Given the description of an element on the screen output the (x, y) to click on. 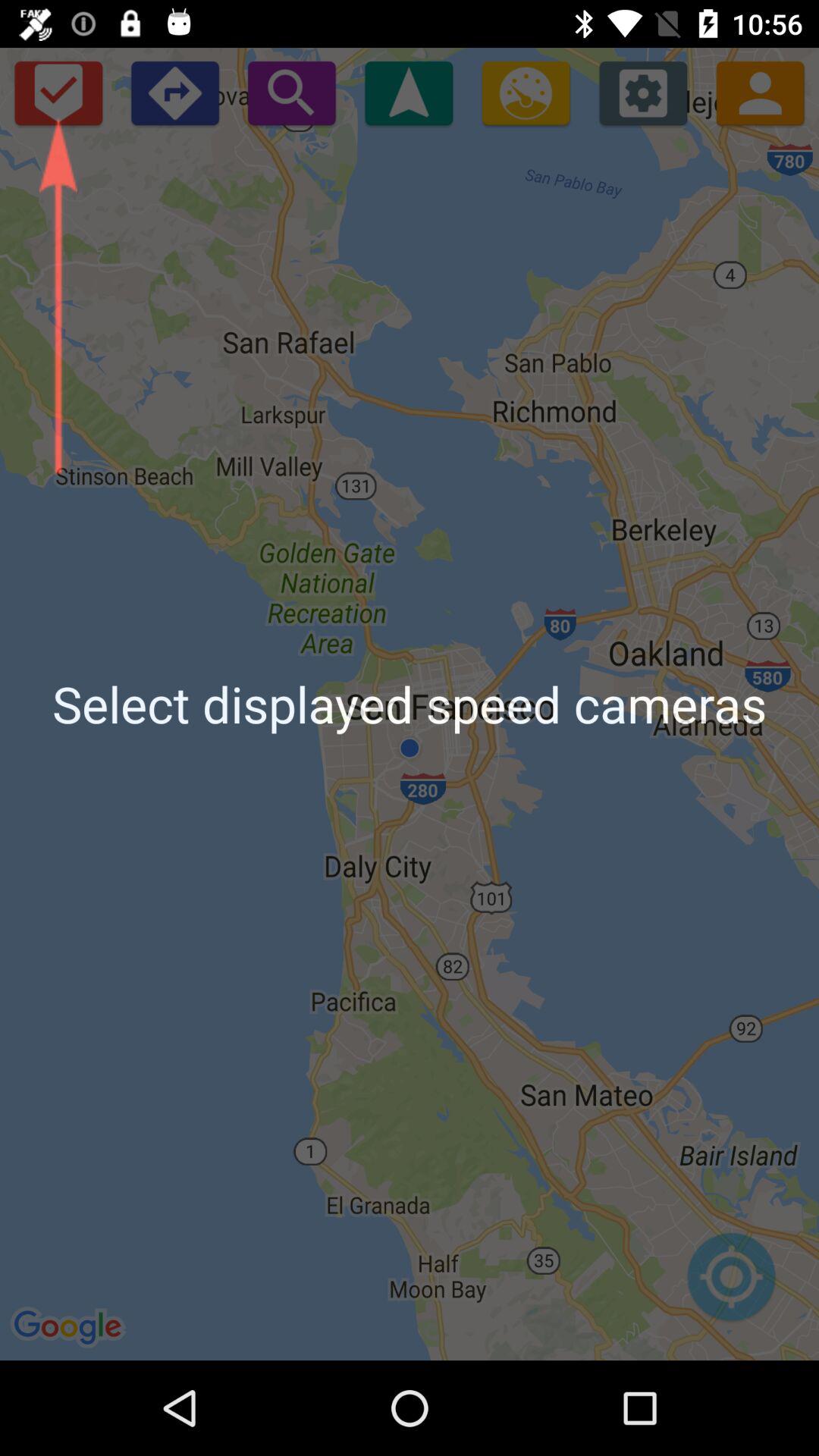
press icon above select displayed speed icon (58, 92)
